Given the description of an element on the screen output the (x, y) to click on. 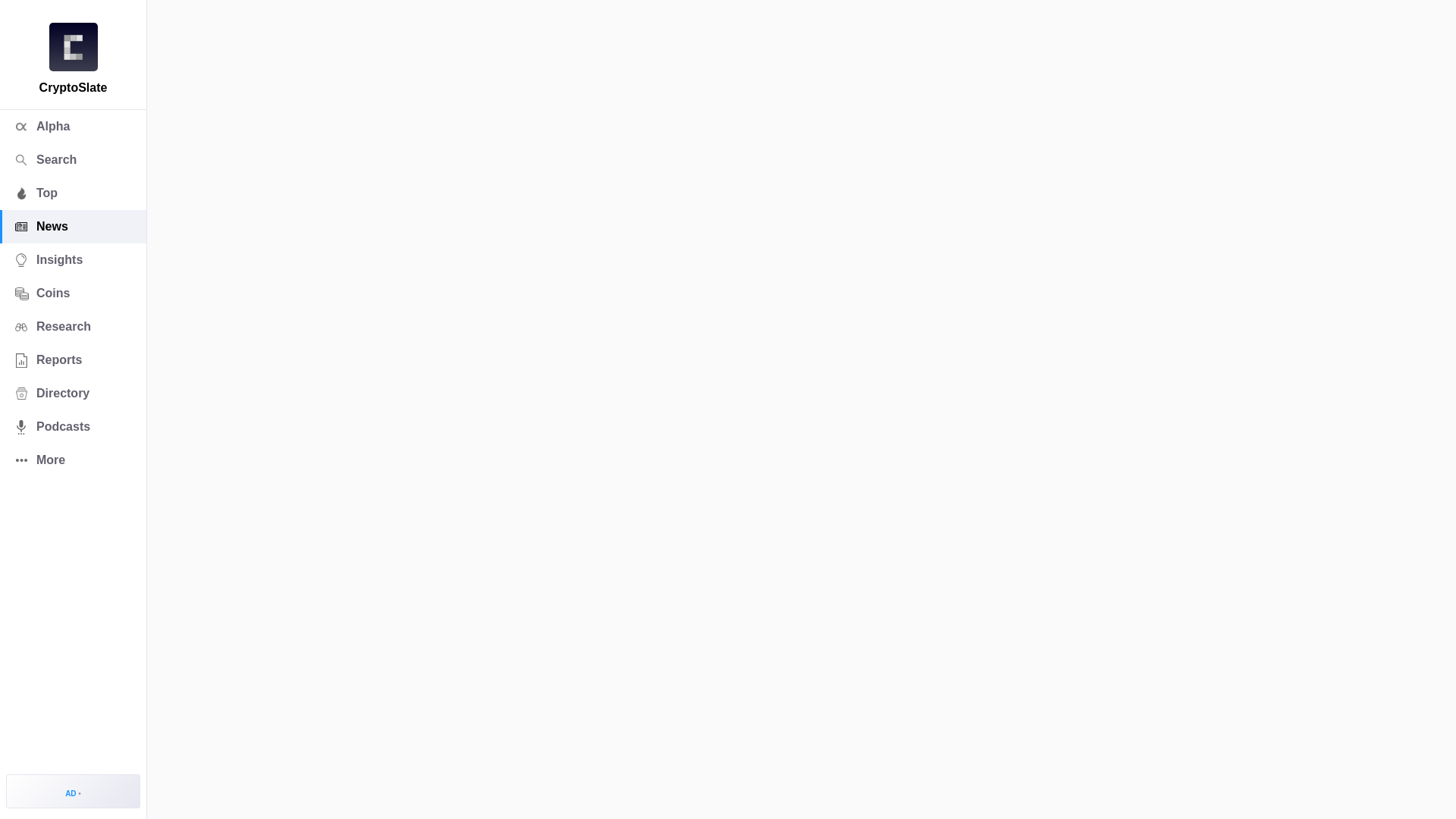
Insights (73, 259)
Research (73, 326)
Alpha (73, 126)
CryptoSlate (72, 46)
Directory (73, 393)
Coins (73, 293)
News (73, 226)
Top (73, 192)
AD (72, 790)
Podcasts (73, 426)
